Given the description of an element on the screen output the (x, y) to click on. 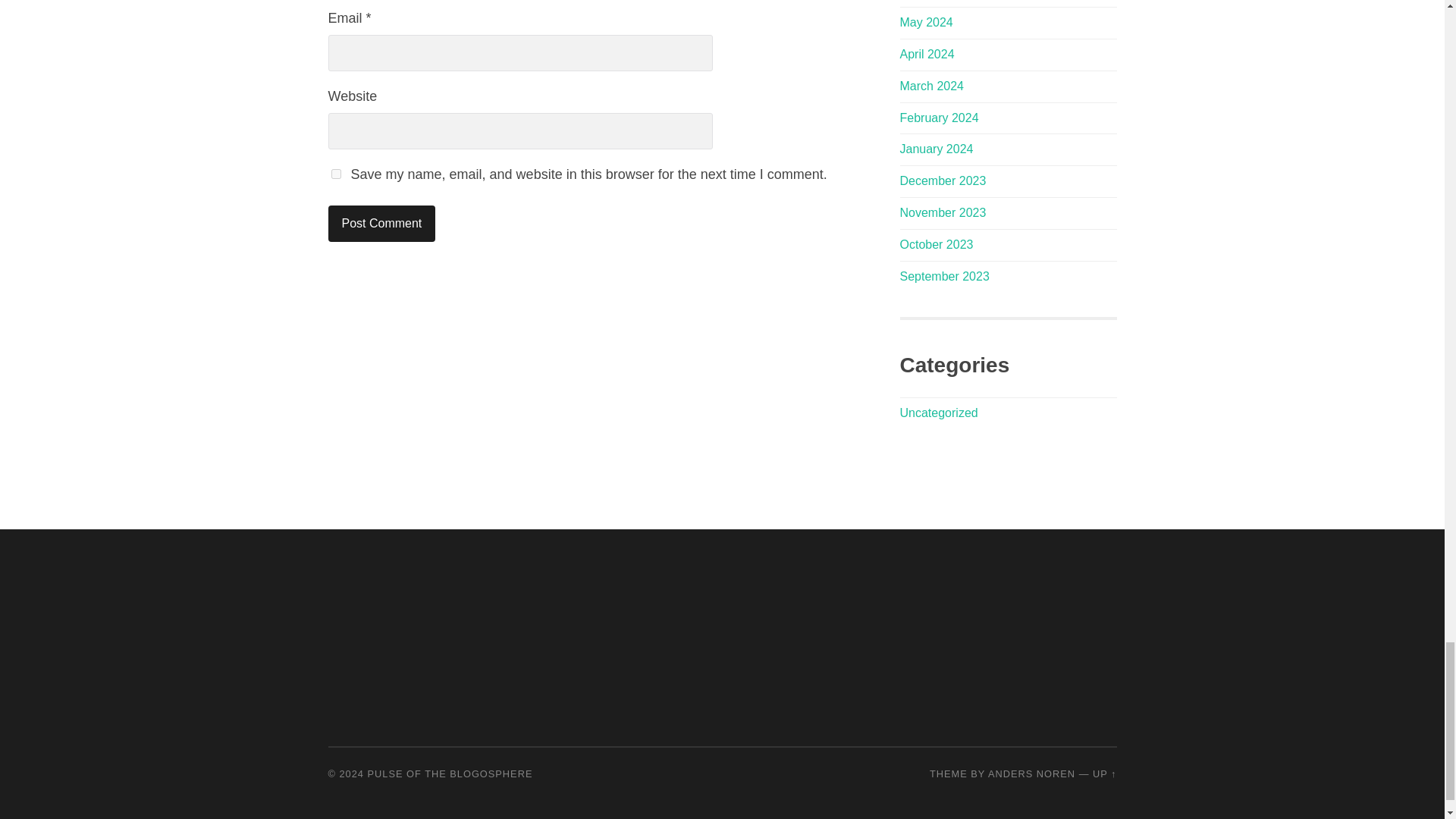
Post Comment (381, 223)
Post Comment (381, 223)
To the top (1104, 773)
yes (335, 173)
